Given the description of an element on the screen output the (x, y) to click on. 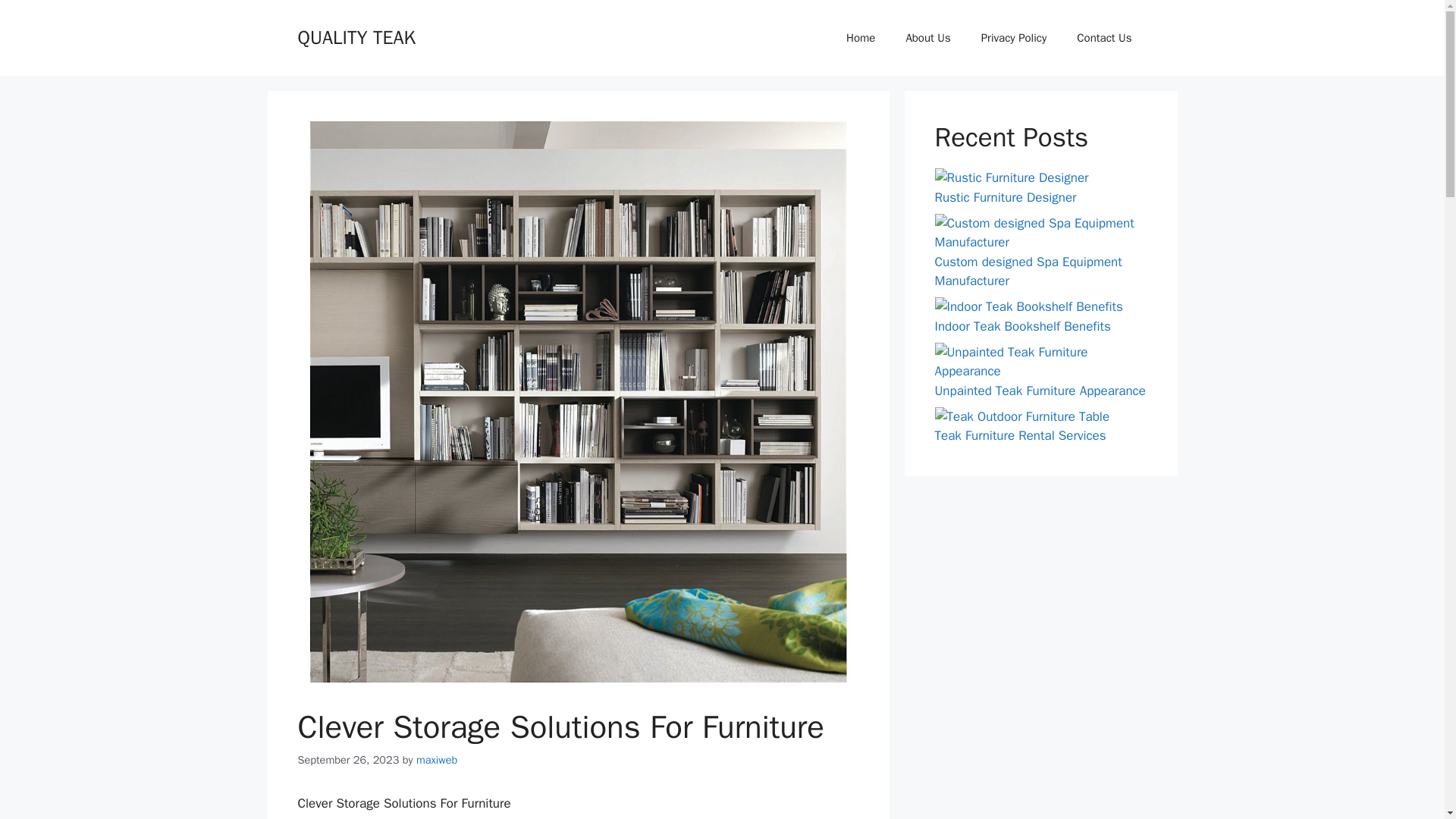
About Us (927, 37)
View all posts by maxiweb (437, 759)
Unpainted Teak Furniture Appearance (1039, 390)
Contact Us (1104, 37)
Custom designed Spa Equipment Manufacturer (1027, 271)
Home (860, 37)
maxiweb (437, 759)
Privacy Policy (1014, 37)
Indoor Teak Bookshelf Benefits (1021, 326)
Rustic Furniture Designer (1004, 197)
Teak Furniture Rental Services (1019, 435)
QUALITY TEAK (355, 37)
